Given the description of an element on the screen output the (x, y) to click on. 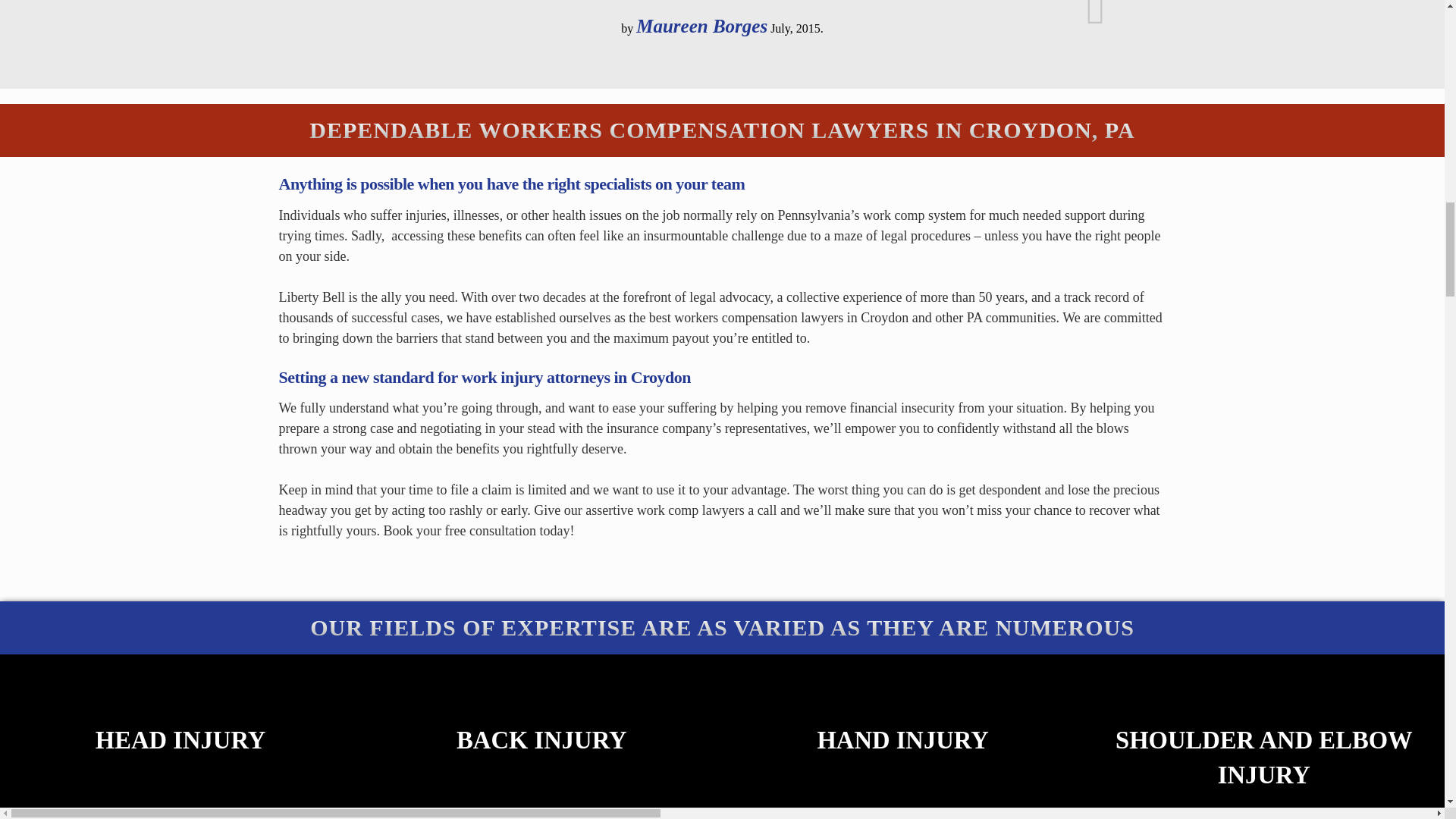
transparent-slide (722, 25)
Back Injury Lawyers in Philadelphia (541, 736)
Head Injury Attorneys in Philadelphia (180, 736)
Hand Injury Attorneys in Philadelphia (902, 736)
